Given the description of an element on the screen output the (x, y) to click on. 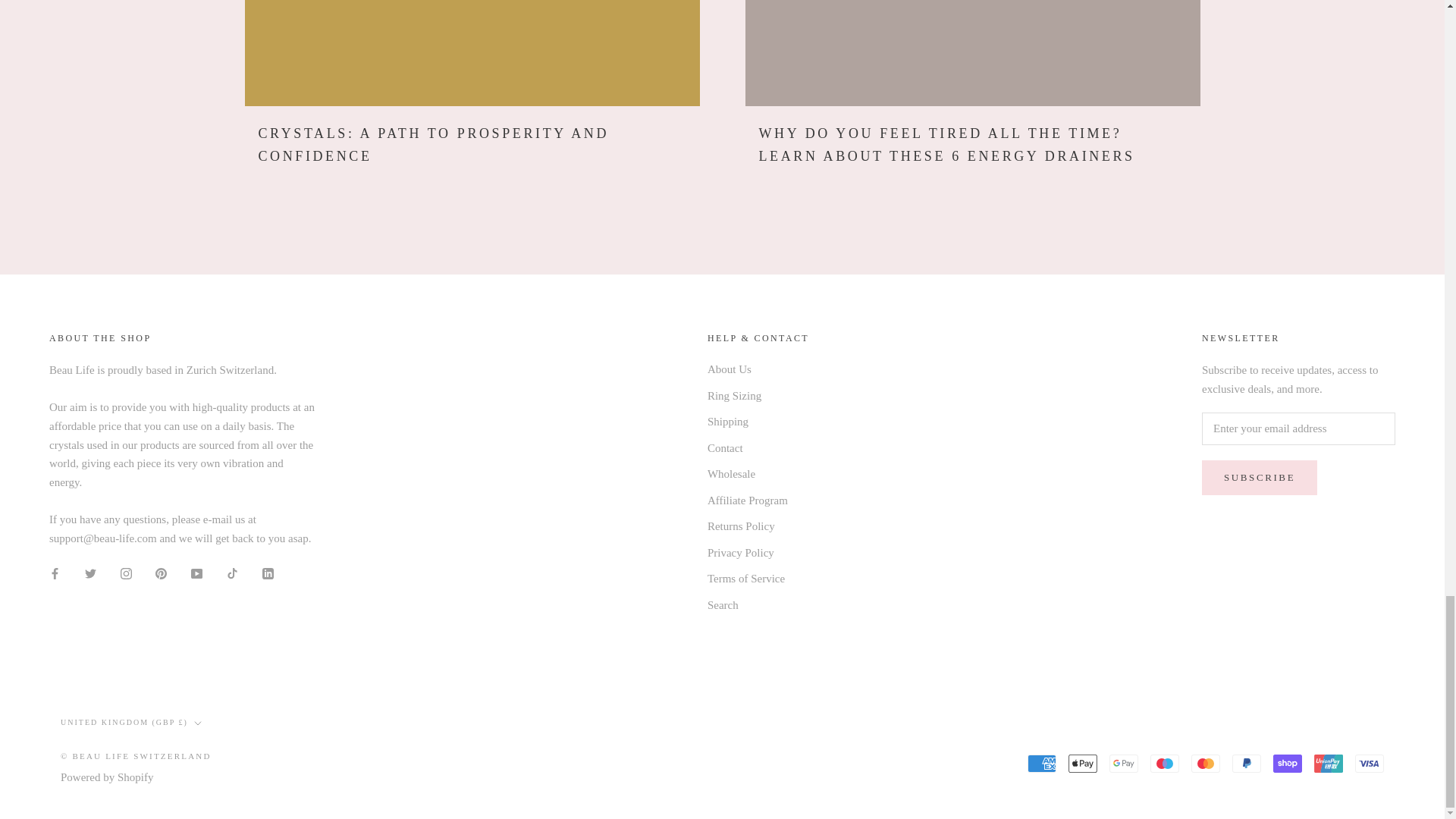
Mastercard (1205, 763)
Maestro (1164, 763)
PayPal (1245, 763)
Shop Pay (1286, 763)
Google Pay (1123, 763)
Apple Pay (1082, 763)
American Express (1042, 763)
